Given the description of an element on the screen output the (x, y) to click on. 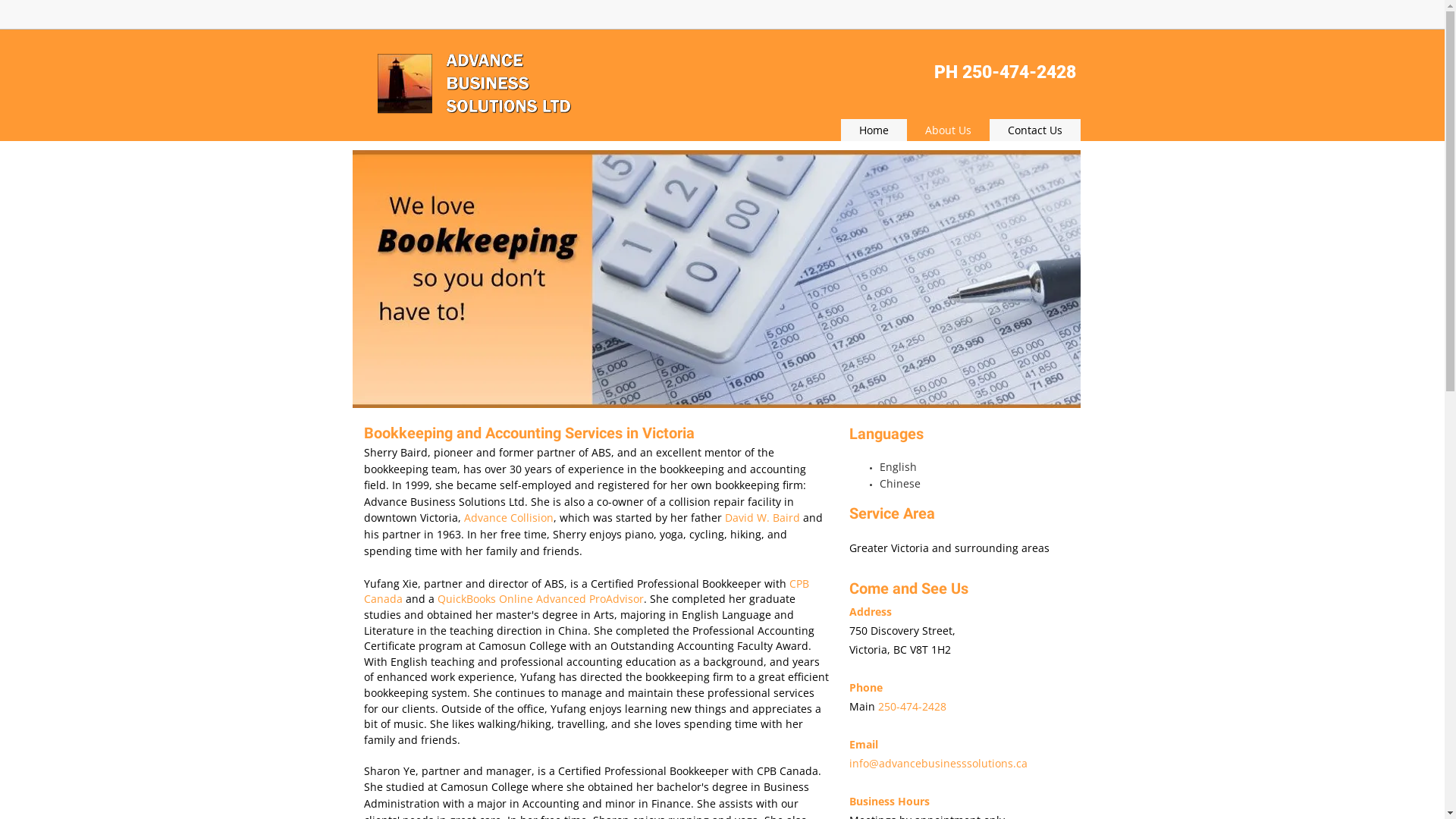
Home Element type: text (873, 130)
250-474-2428 Element type: text (912, 706)
Embedded Content Element type: hover (1050, 18)
info@advancebusinesssolutions.ca Element type: text (938, 763)
250-474-2428 Element type: text (1018, 72)
About Us Element type: text (947, 130)
Embedded Content Element type: hover (958, 18)
Contact Us Element type: text (1033, 130)
